Given the description of an element on the screen output the (x, y) to click on. 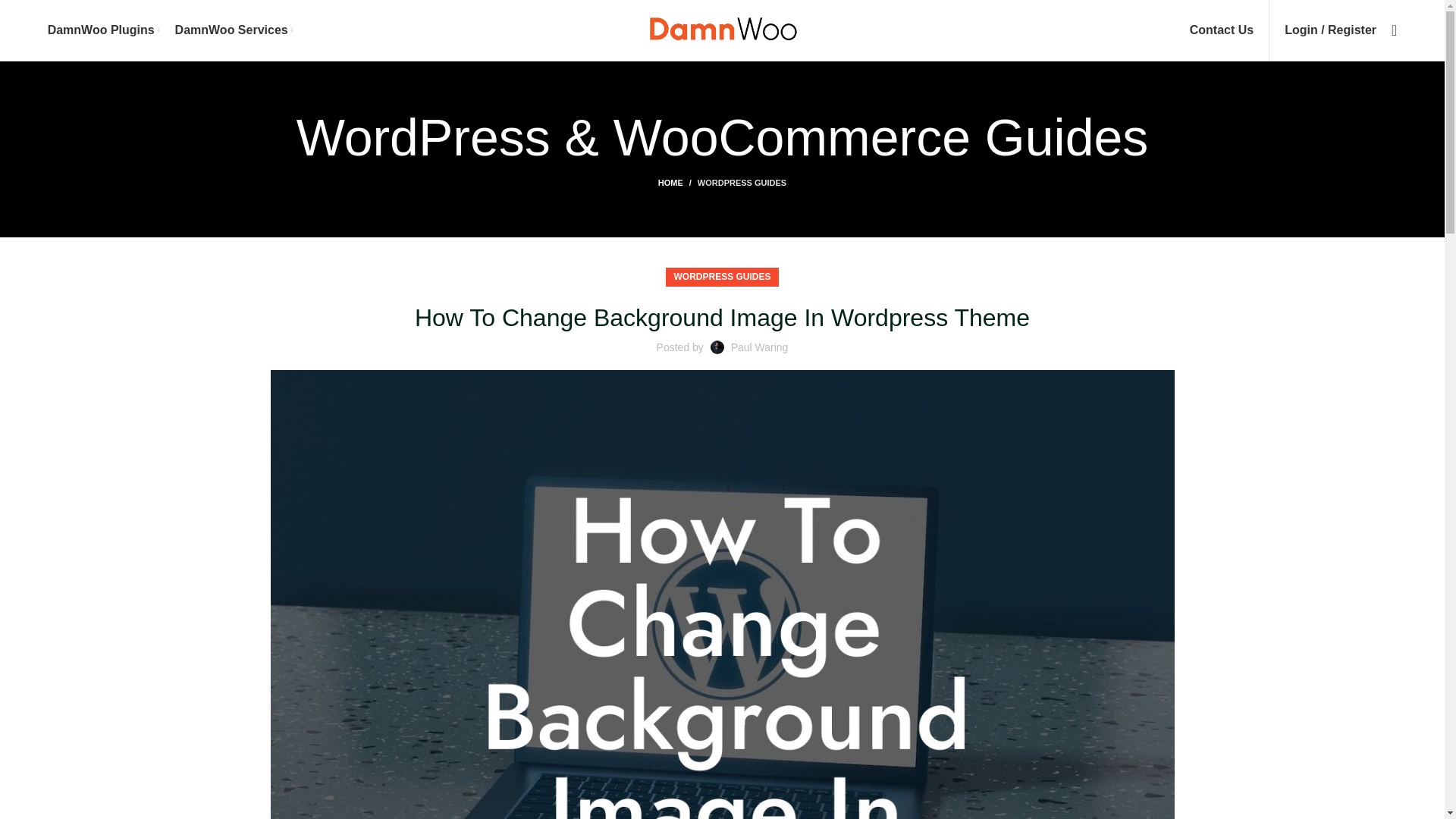
Contact Us (1221, 30)
WORDPRESS GUIDES (721, 276)
HOME (677, 182)
Paul Waring (759, 346)
DamnWoo Services (234, 30)
WORDPRESS GUIDES (741, 182)
DamnWoo Plugins (104, 30)
My account (1330, 30)
